Given the description of an element on the screen output the (x, y) to click on. 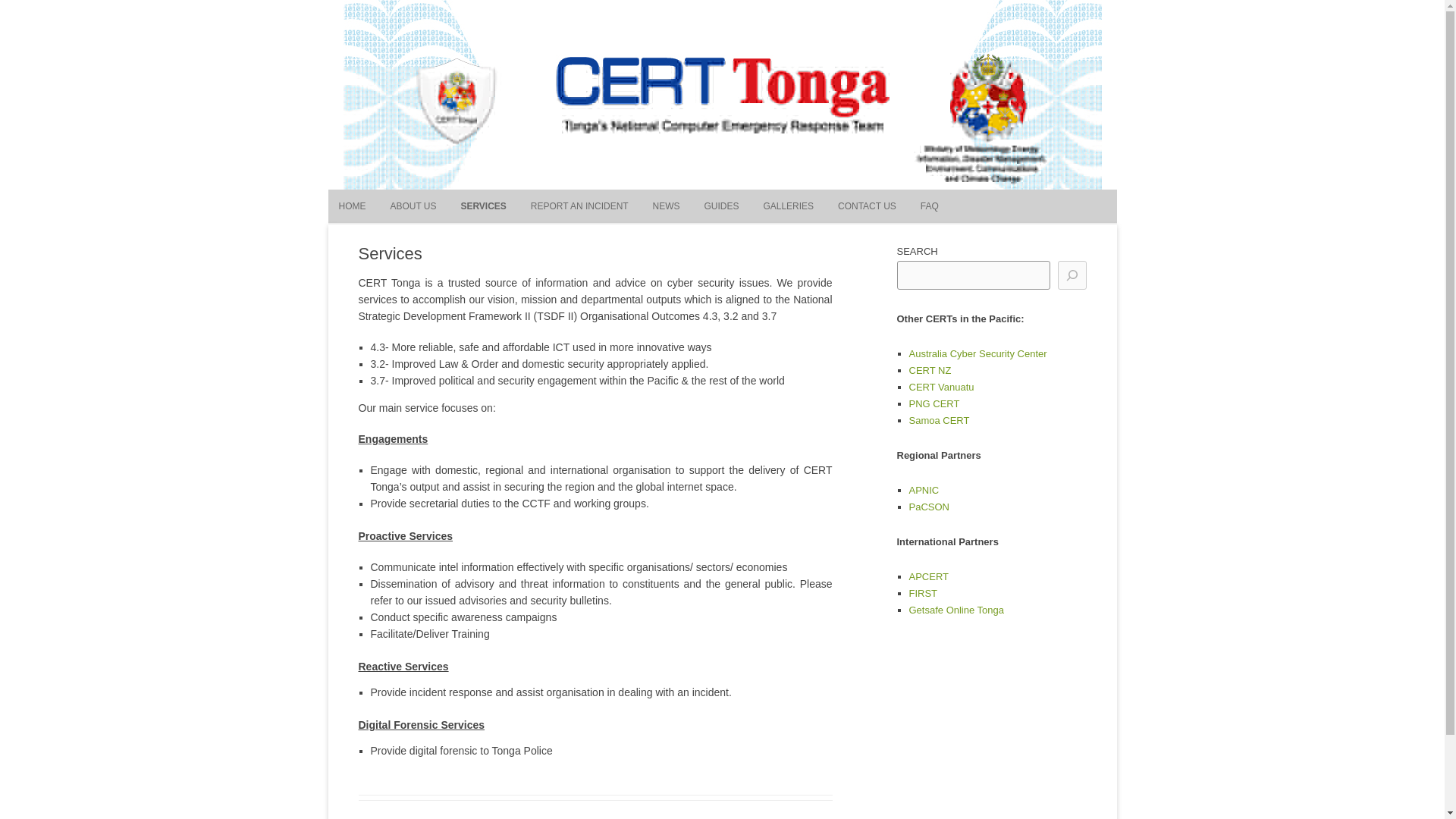
FIRST (922, 593)
Search (410, 31)
Samoa CERT (938, 419)
Search (410, 31)
APCERT (928, 576)
CERT Vanuatu (941, 387)
REPORT AN INCIDENT (579, 205)
APNIC (923, 490)
ABOUT US (412, 205)
CERT Tonga (86, 31)
